Given the description of an element on the screen output the (x, y) to click on. 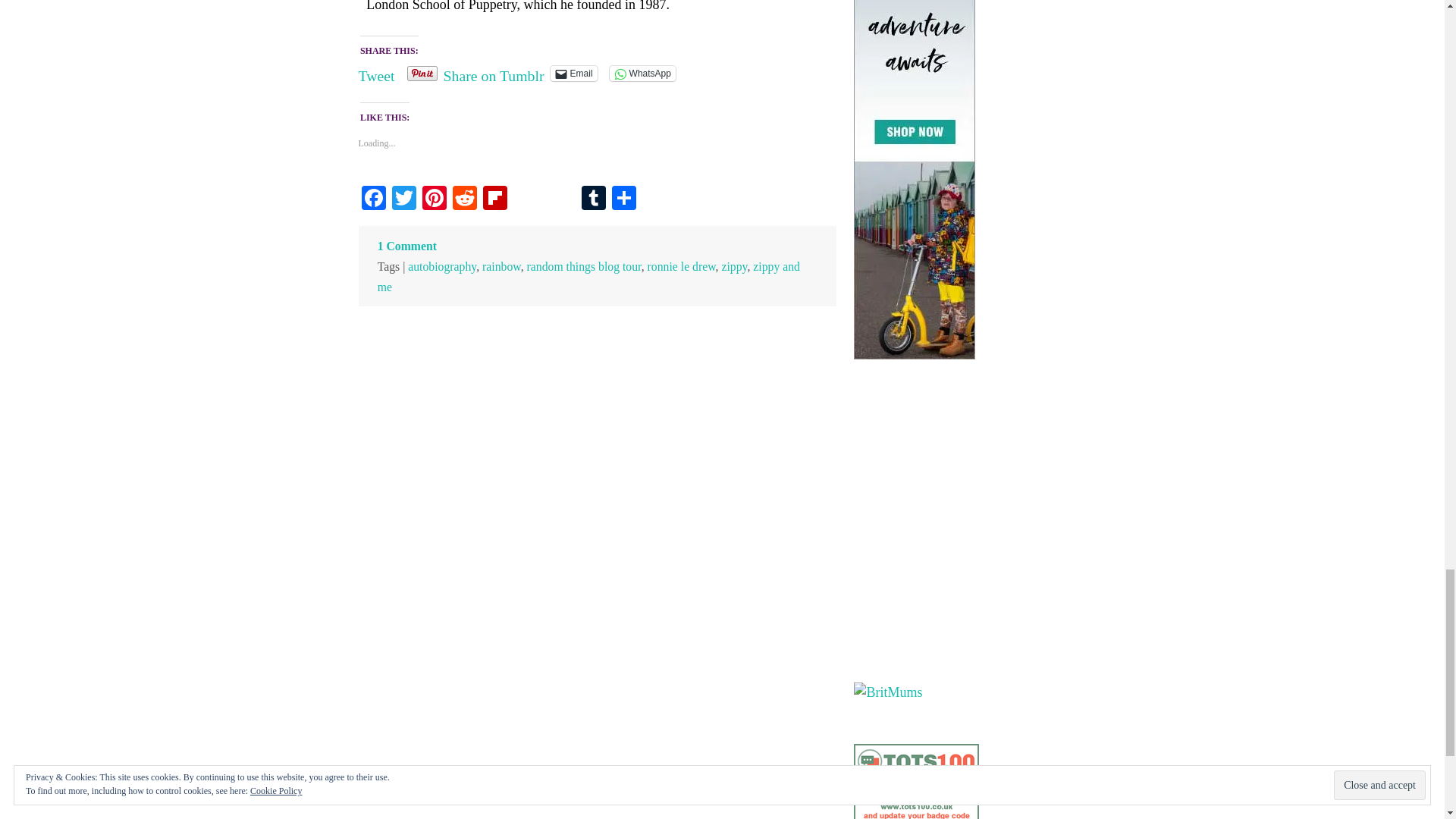
Tumblr (593, 199)
Email (573, 73)
Share on Tumblr (494, 72)
Facebook (373, 199)
Facebook (373, 199)
Twitter (403, 199)
Reddit (463, 199)
Click to email a link to a friend (573, 73)
Tweet (376, 72)
Click to share on WhatsApp (642, 73)
